Given the description of an element on the screen output the (x, y) to click on. 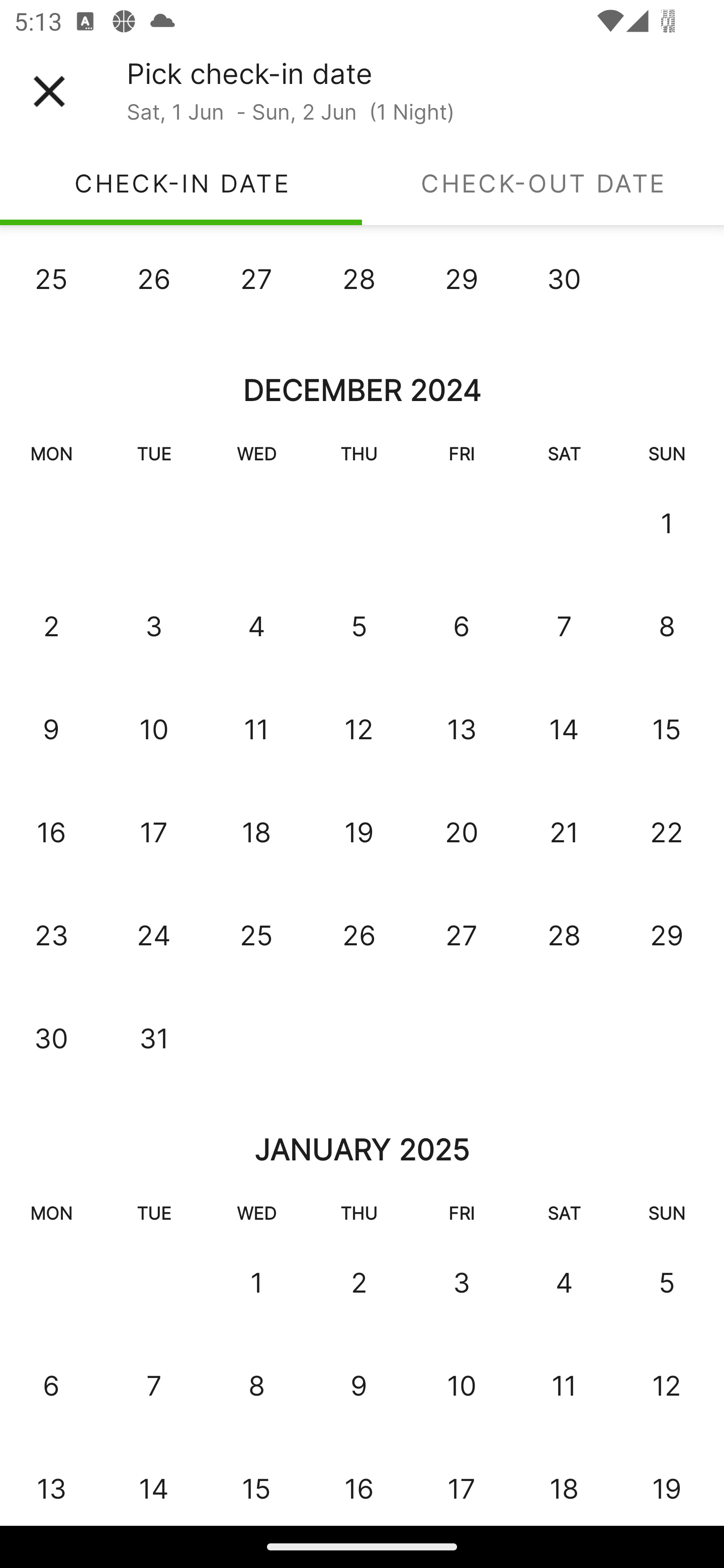
Check-out Date CHECK-OUT DATE (543, 183)
